Given the description of an element on the screen output the (x, y) to click on. 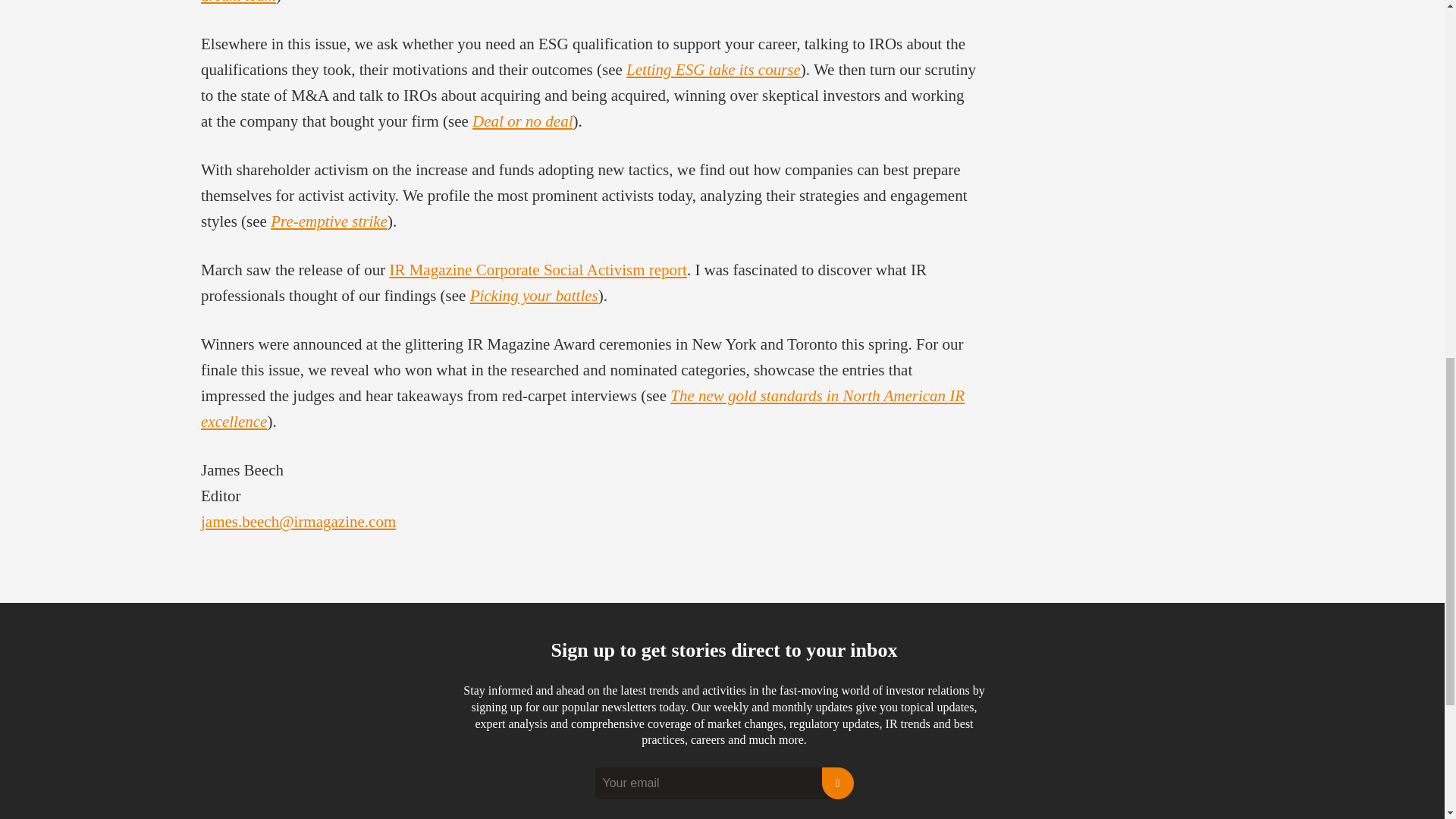
Deal or no deal (521, 121)
Sign Up (837, 783)
Picking your battles (534, 295)
IR Magazine Corporate Social Activism report (536, 270)
Pre-emptive strike (328, 221)
Letting ESG take its course (713, 69)
The new gold standards in North American IR excellence (581, 408)
